Given the description of an element on the screen output the (x, y) to click on. 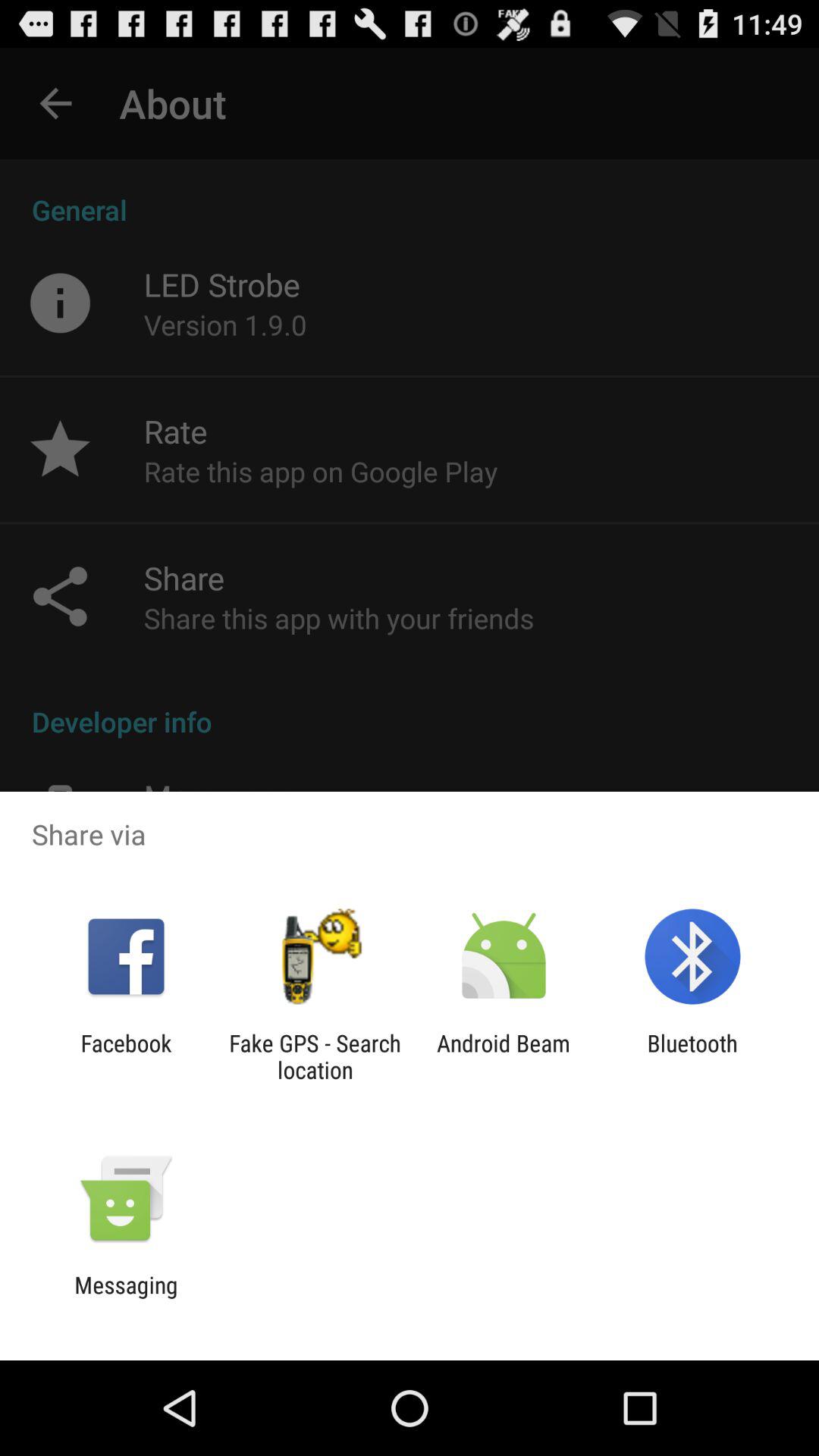
open the item next to the bluetooth app (503, 1056)
